Given the description of an element on the screen output the (x, y) to click on. 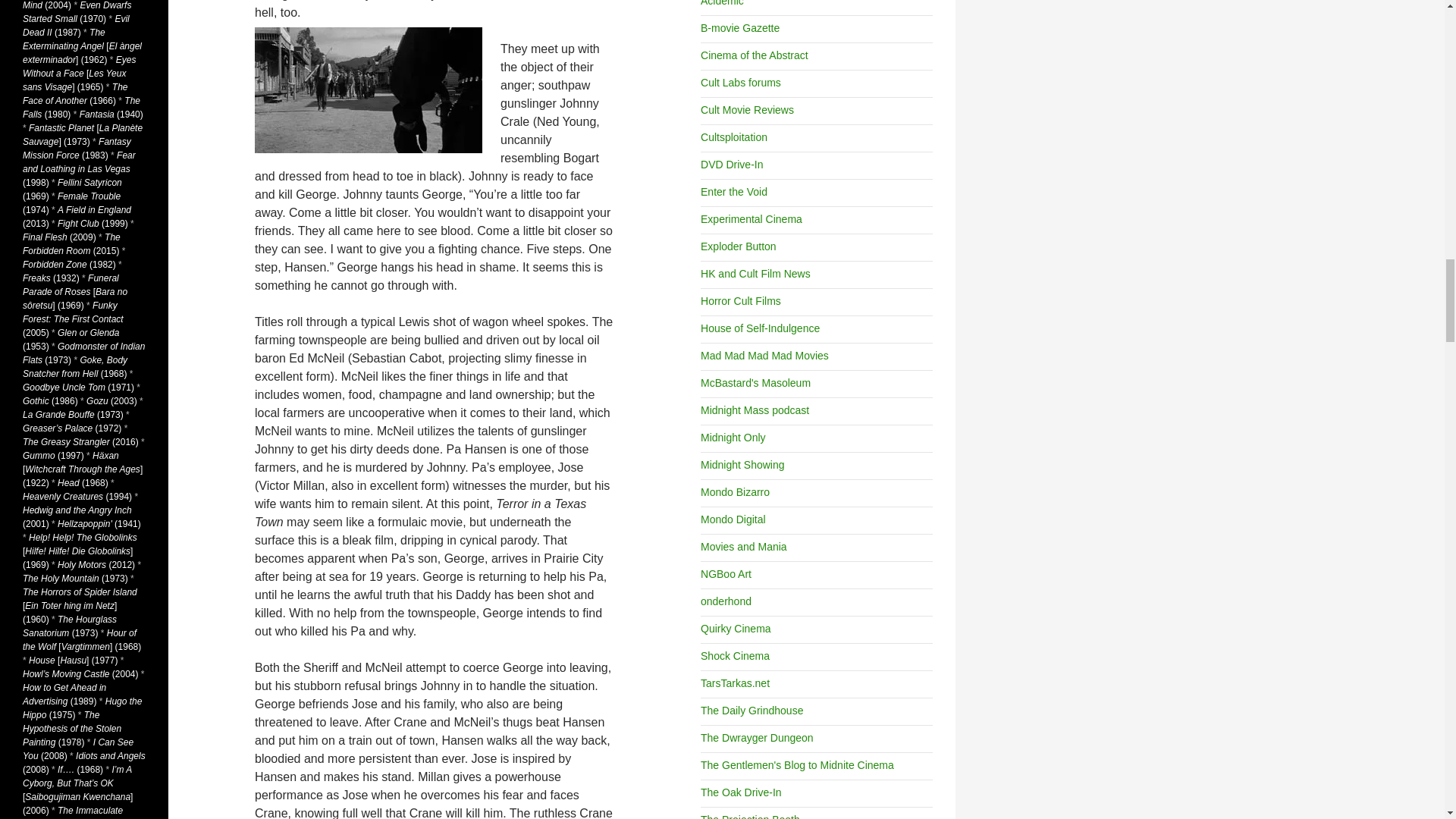
Terror in a Texas Town (367, 90)
100 of the best B-movie blogs out there (739, 28)
The latest cult movie DVD reviews (731, 164)
